Given the description of an element on the screen output the (x, y) to click on. 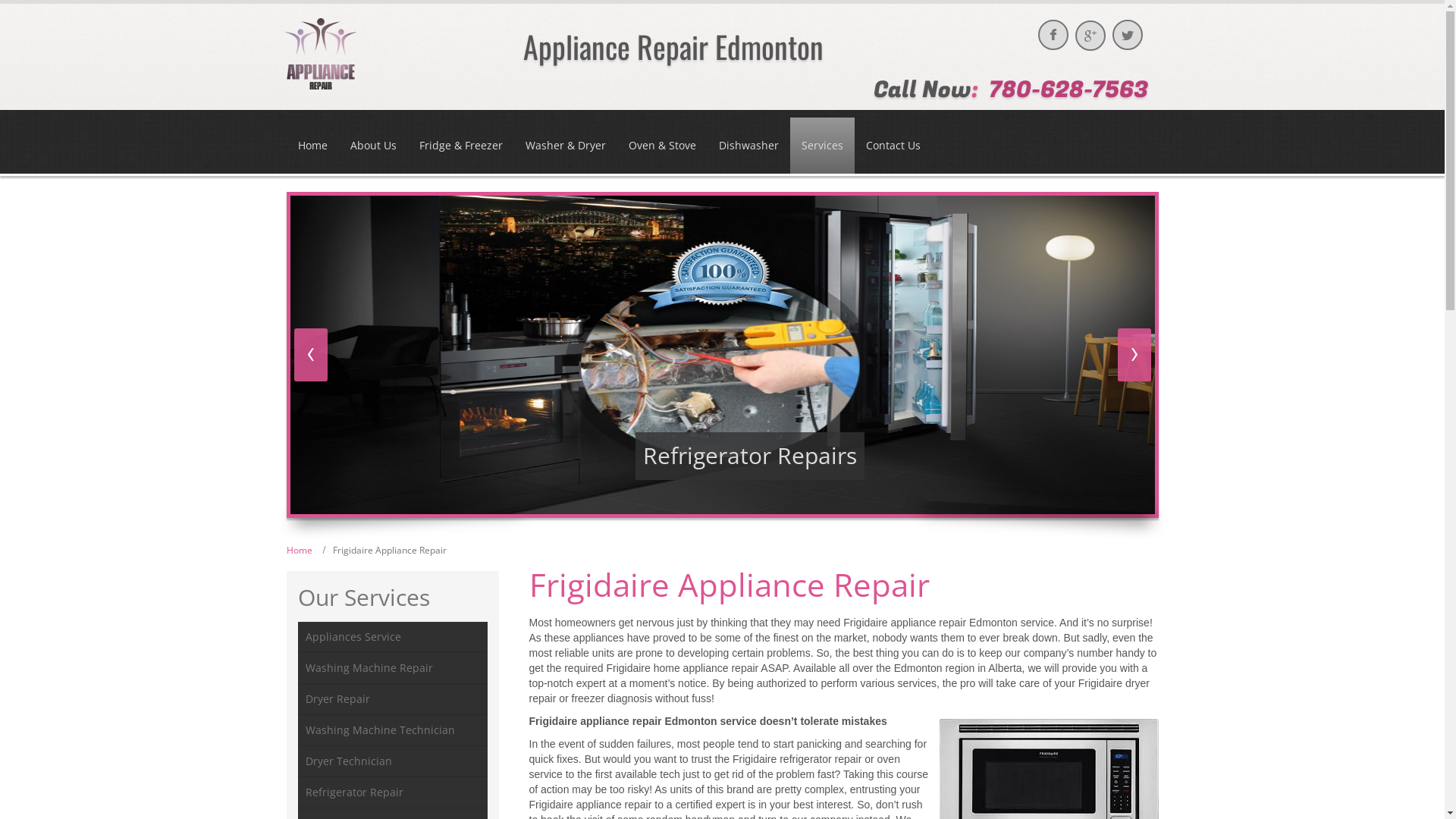
Washer & Dryer Element type: text (565, 145)
Contact Us Element type: text (892, 145)
Fridge & Freezer Element type: text (460, 145)
Refrigerator Repair Element type: text (391, 792)
Oven & Stove Element type: text (662, 145)
Washing Machine Technician Element type: text (391, 730)
Appliances Service Element type: text (391, 636)
Dishwasher Element type: text (747, 145)
Dryer Technician Element type: text (391, 761)
Services Element type: text (822, 145)
Home Element type: text (299, 549)
Washing Machine Repair Element type: text (391, 668)
Dryer Repair Element type: text (391, 699)
780-628-7563 Element type: text (1068, 89)
Home Element type: text (312, 145)
About Us Element type: text (372, 145)
